Given the description of an element on the screen output the (x, y) to click on. 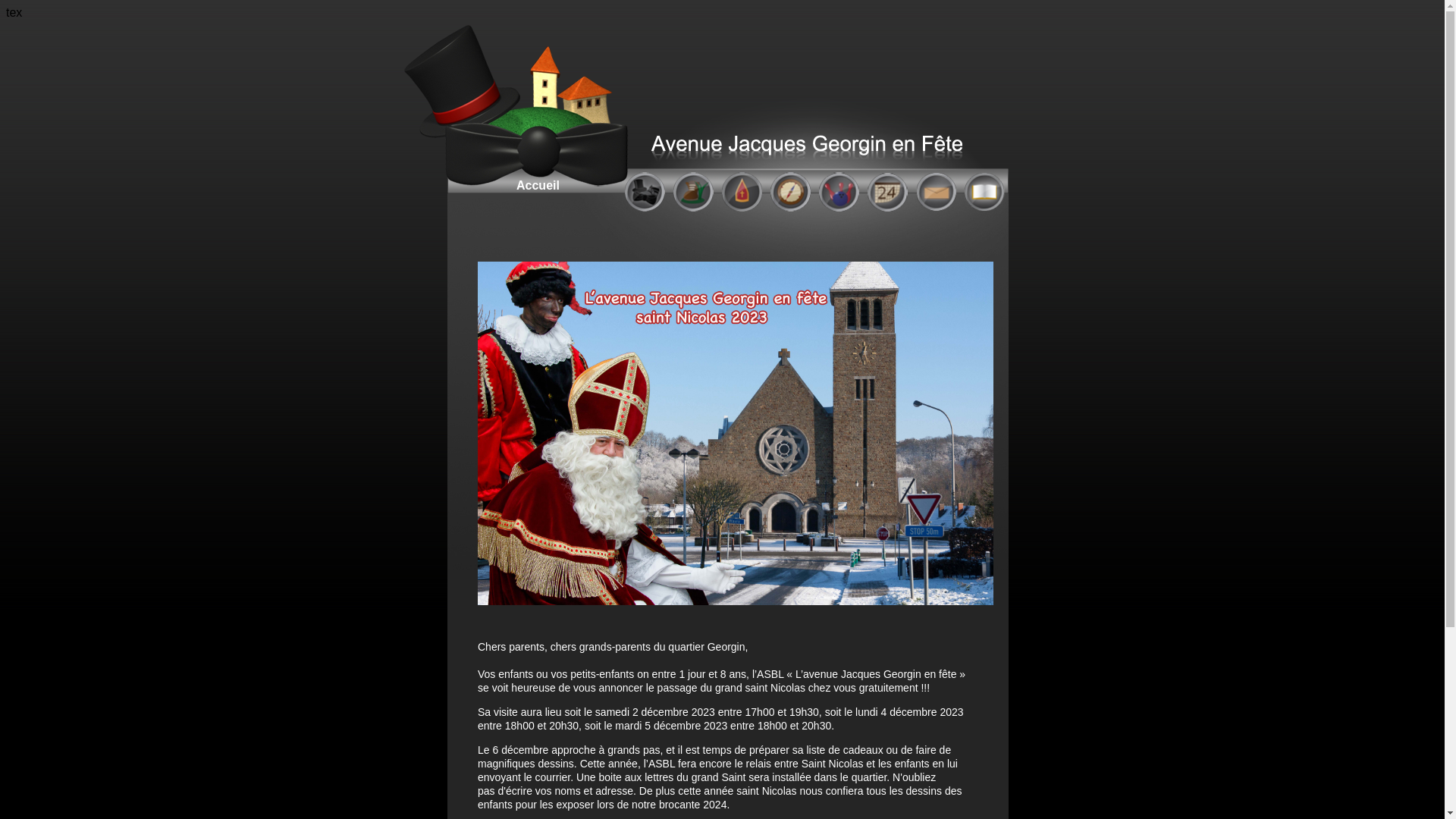
Accueil Element type: text (469, 105)
